Given the description of an element on the screen output the (x, y) to click on. 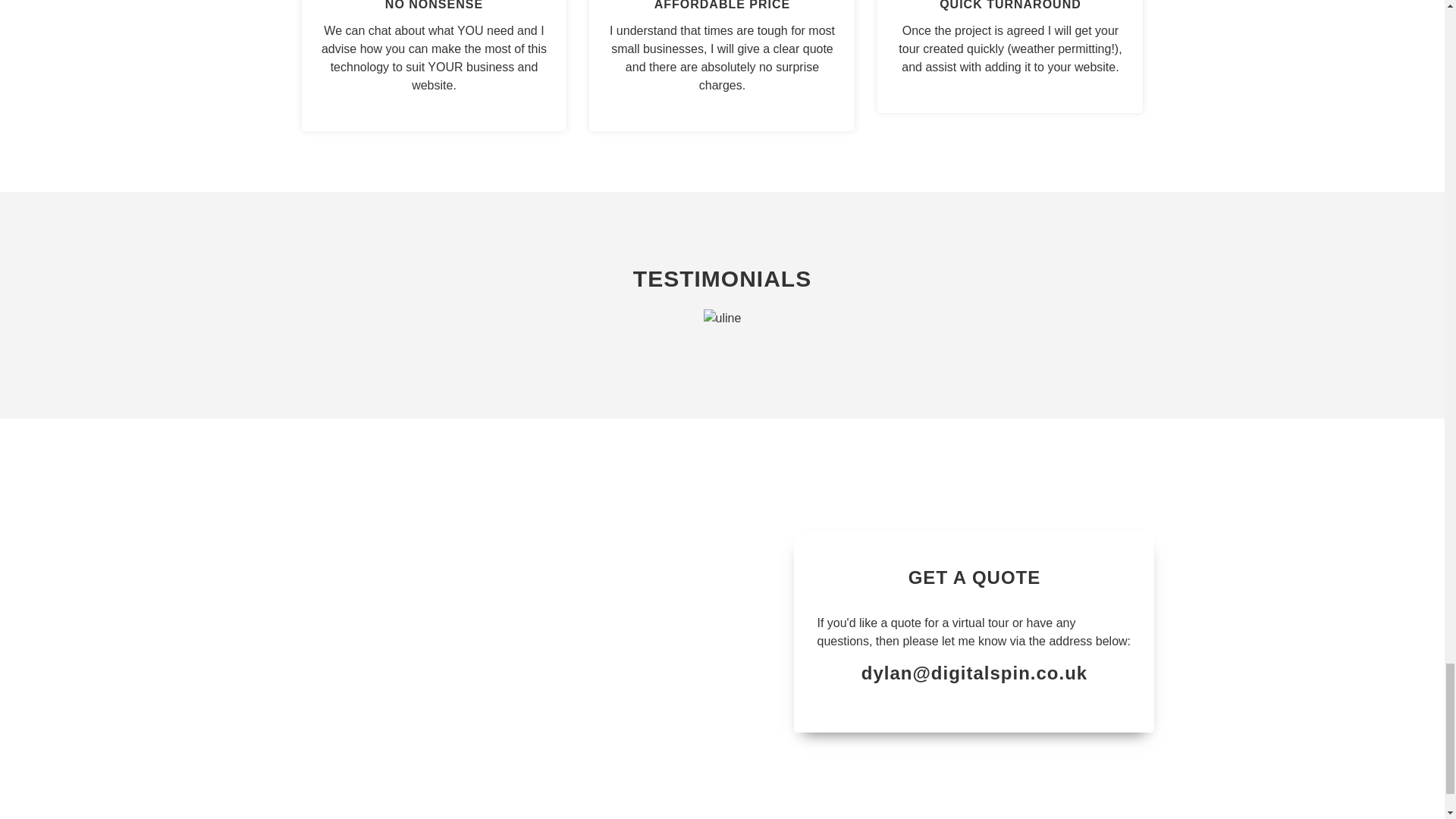
QUICK TURNAROUND (1010, 5)
NO NONSENSE (434, 5)
AFFORDABLE PRICE (721, 5)
